Given the description of an element on the screen output the (x, y) to click on. 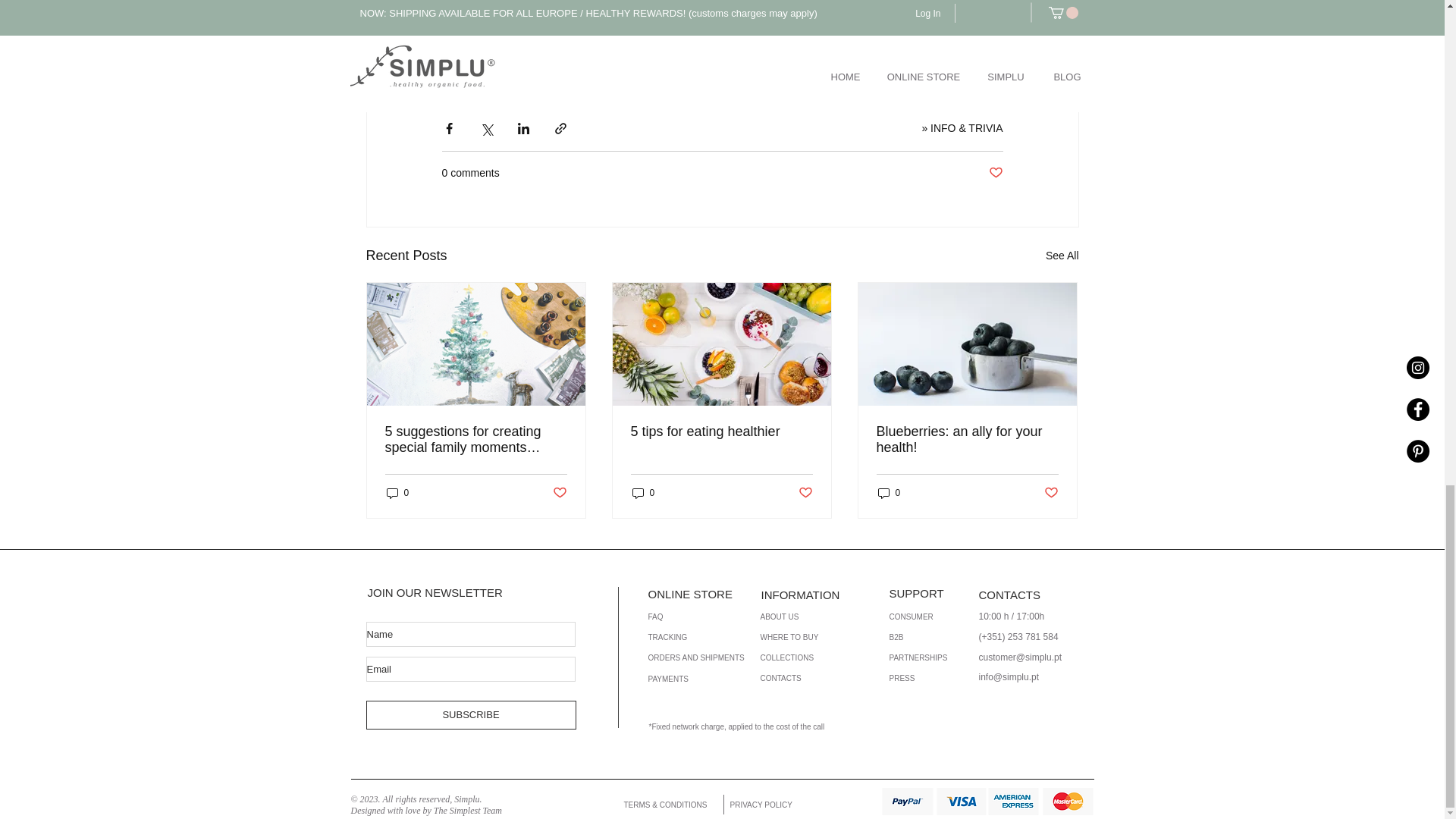
Post not marked as liked (558, 493)
benefits (469, 69)
buckwheat (667, 69)
Post not marked as liked (995, 172)
See All (1061, 255)
glutenfree (592, 69)
0 (397, 493)
health (529, 69)
